Given the description of an element on the screen output the (x, y) to click on. 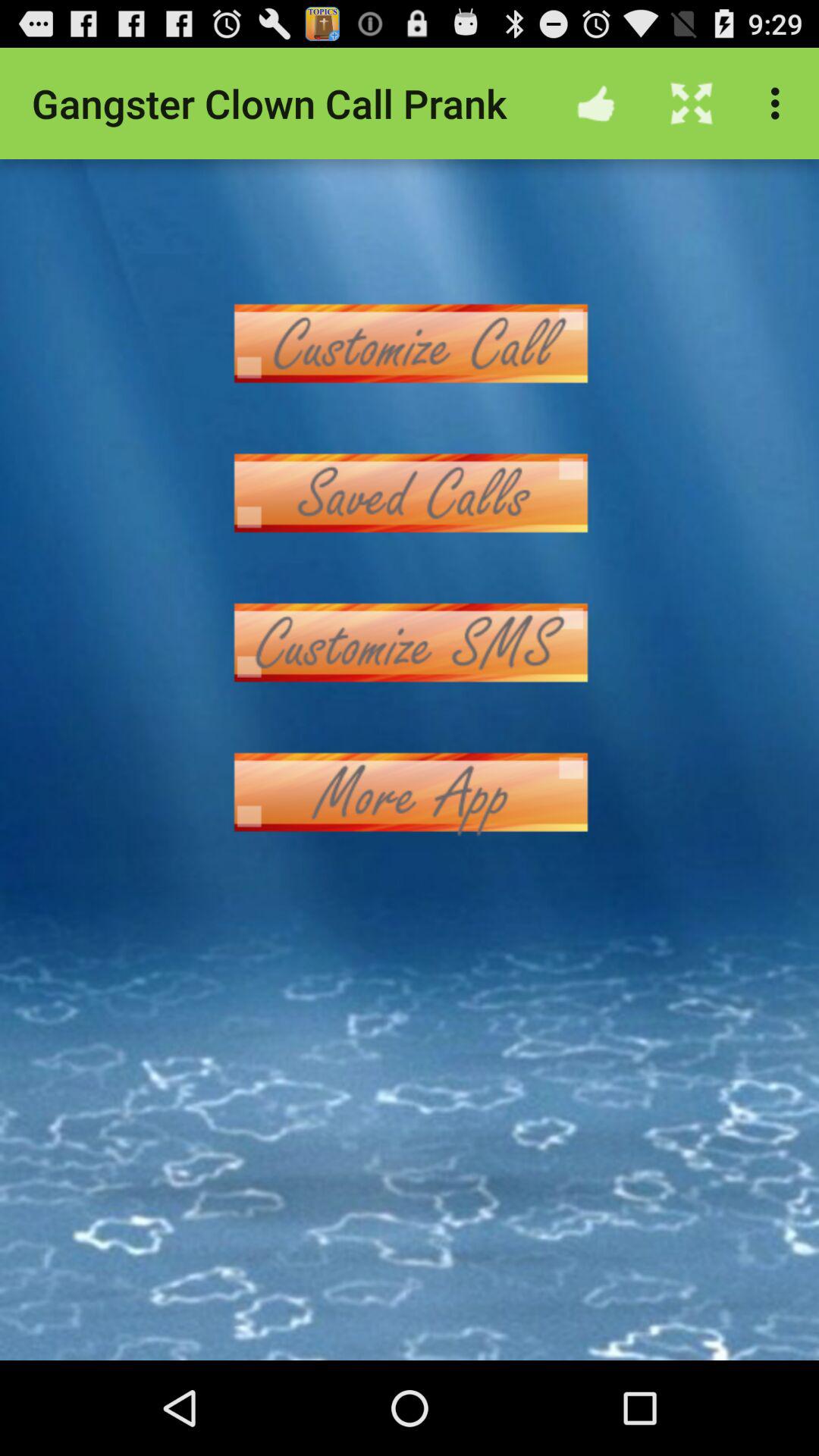
open section (409, 642)
